Given the description of an element on the screen output the (x, y) to click on. 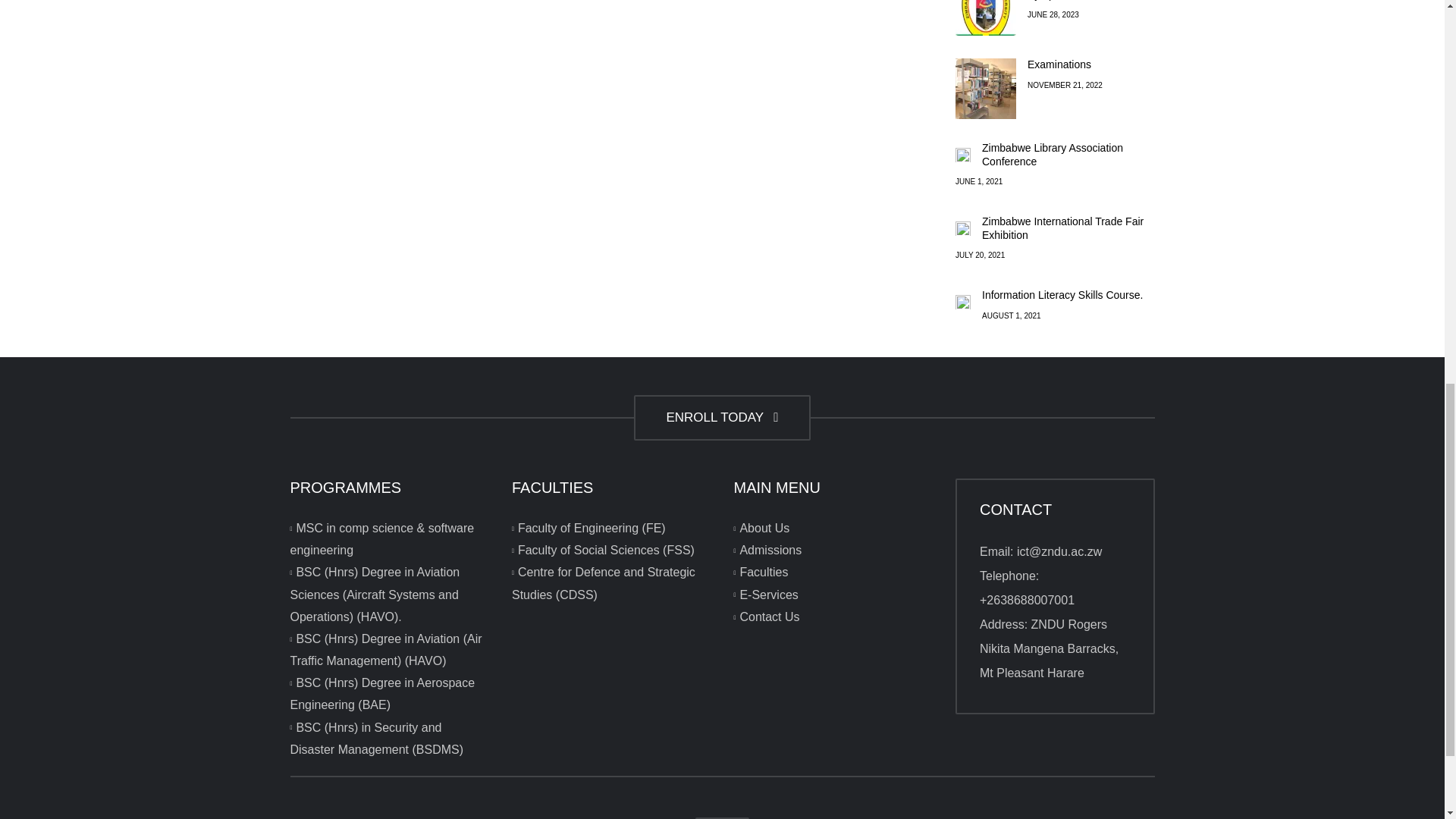
Examinations (985, 88)
ZNDU Energy Security Symposium (985, 18)
Examinations (1058, 64)
Zimbabwe Library Association Conference (1051, 154)
